Given the description of an element on the screen output the (x, y) to click on. 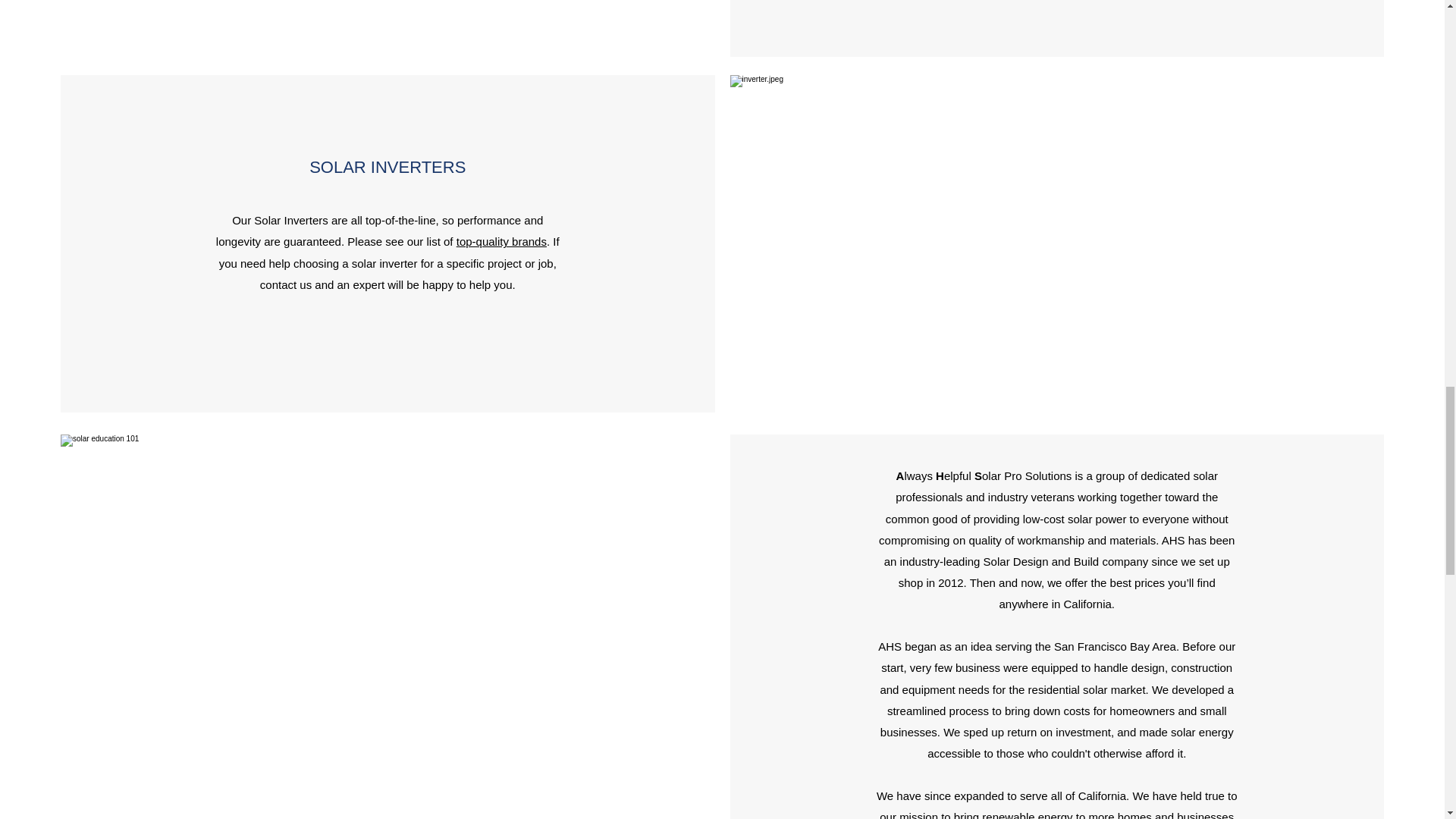
top-quality brands (502, 241)
